Given the description of an element on the screen output the (x, y) to click on. 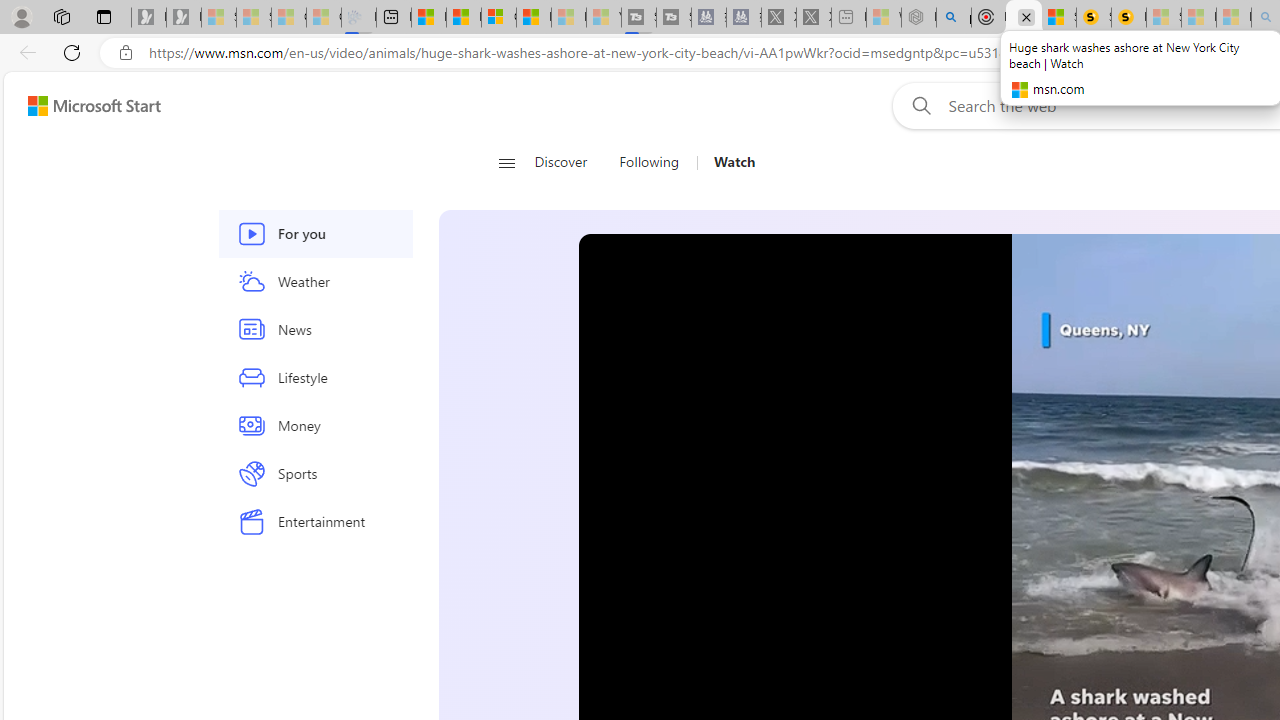
Nordace - Summer Adventures 2024 - Sleeping (918, 17)
Overview (498, 17)
Open navigation menu (506, 162)
Newsletter Sign Up - Sleeping (183, 17)
Web search (917, 105)
